Given the description of an element on the screen output the (x, y) to click on. 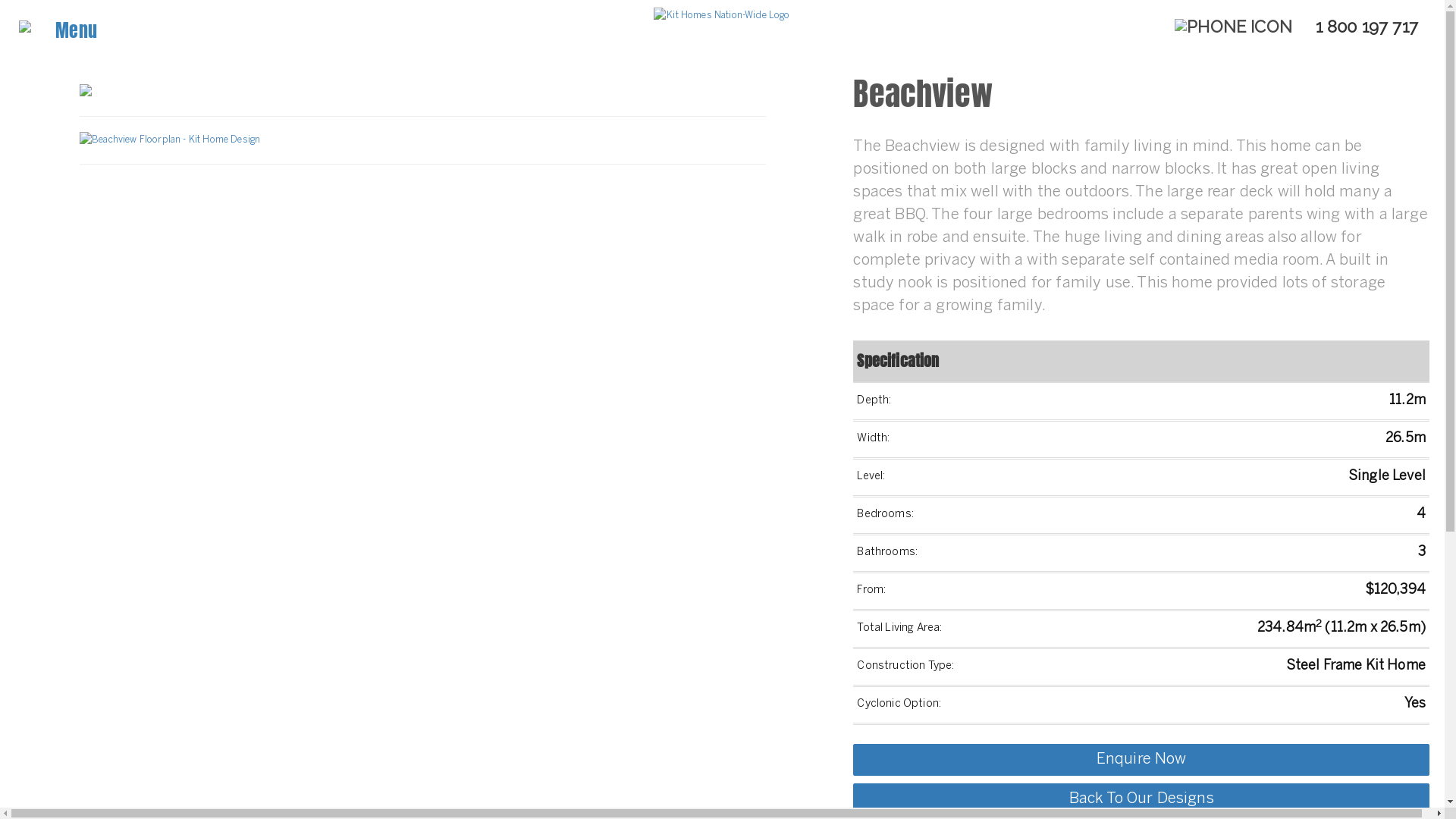
    1 800 197 717 Element type: text (1296, 26)
